Given the description of an element on the screen output the (x, y) to click on. 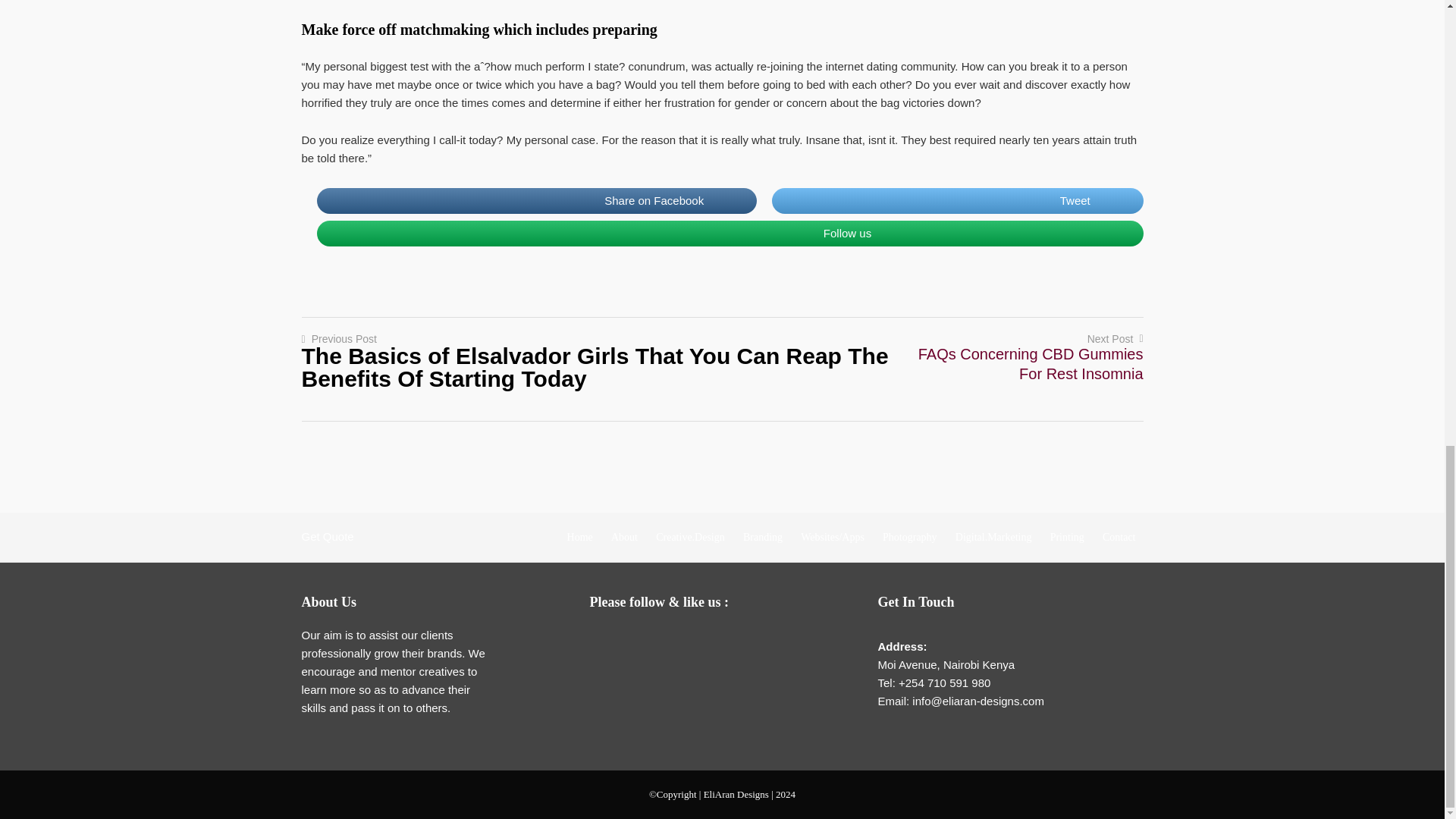
Follow by Email (606, 640)
Facebook (637, 640)
LinkedIn (698, 640)
Twitter (667, 640)
Instagram (728, 640)
